Given the description of an element on the screen output the (x, y) to click on. 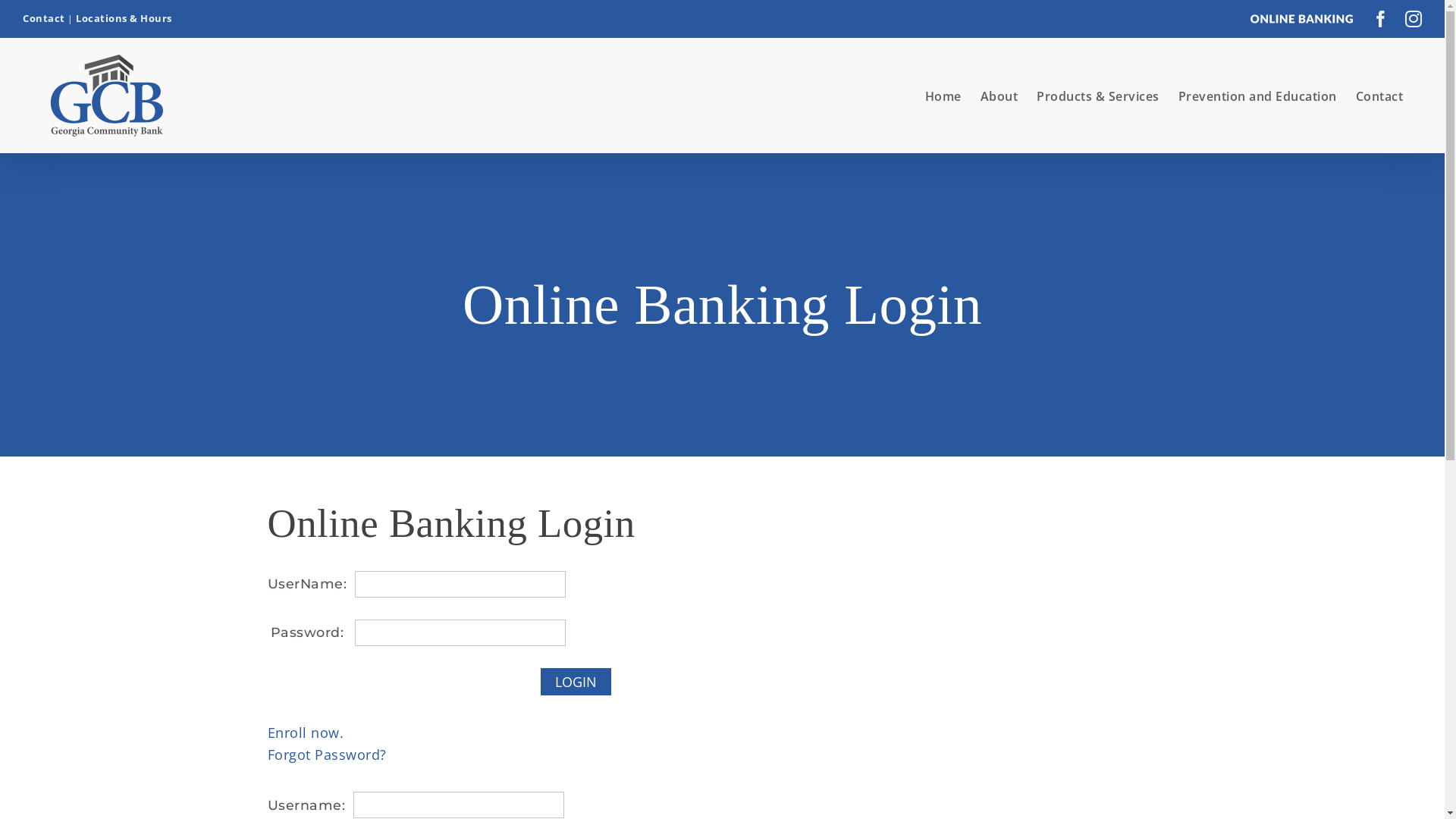
Contact Element type: text (43, 18)
Prevention and Education Element type: text (1257, 94)
About Element type: text (998, 94)
Facebook Element type: text (1381, 18)
Locations & Hours Element type: text (123, 18)
Login Element type: text (574, 681)
Contact Element type: text (1379, 94)
Forgot Password? Element type: text (325, 754)
Home Element type: text (943, 94)
Products & Services Element type: text (1097, 94)
Online Banking Element type: text (1302, 18)
Enroll now. Element type: text (304, 732)
Instagram Element type: text (1412, 18)
